Given the description of an element on the screen output the (x, y) to click on. 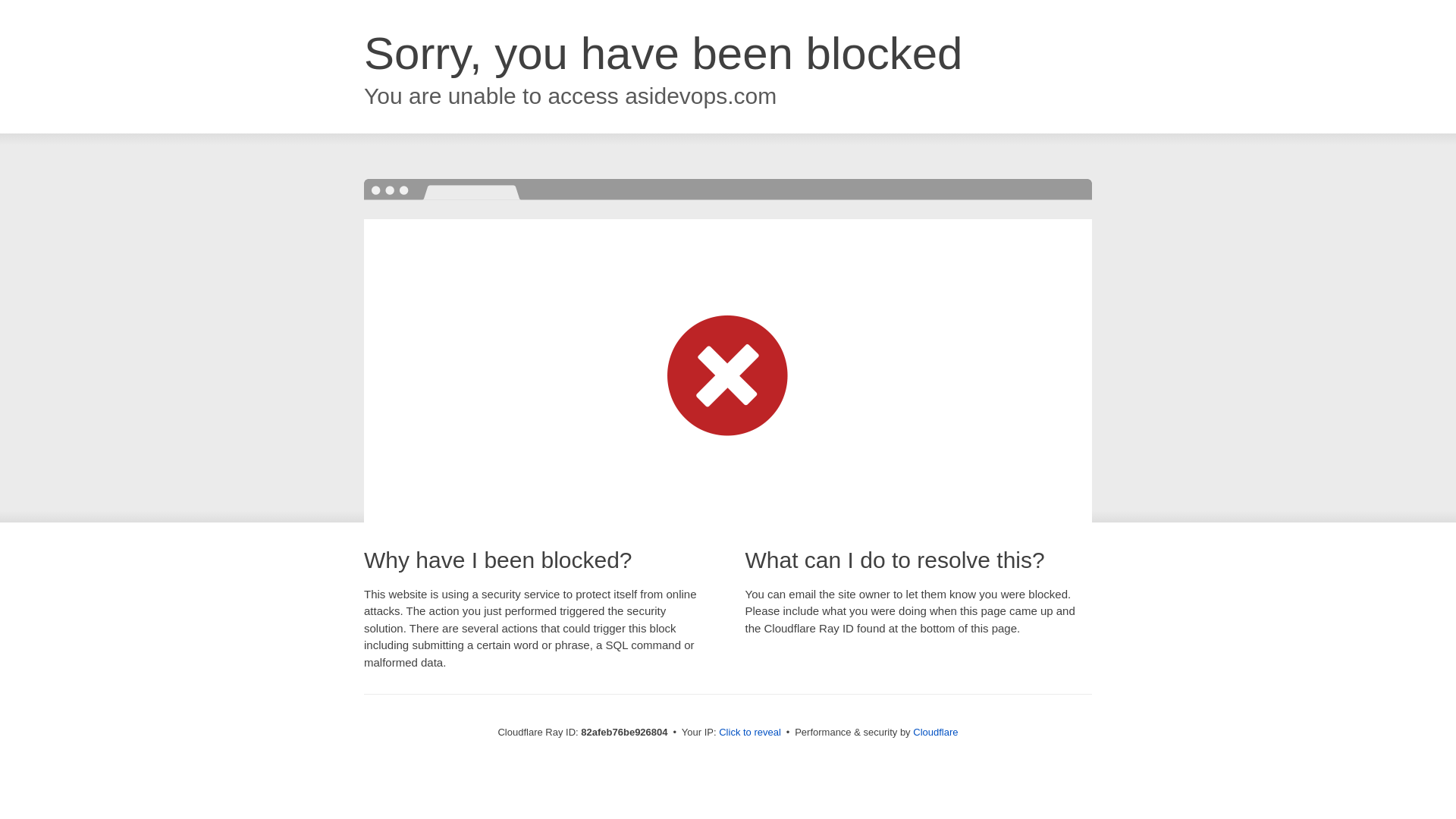
Cloudflare Element type: text (935, 731)
Click to reveal Element type: text (749, 732)
